Given the description of an element on the screen output the (x, y) to click on. 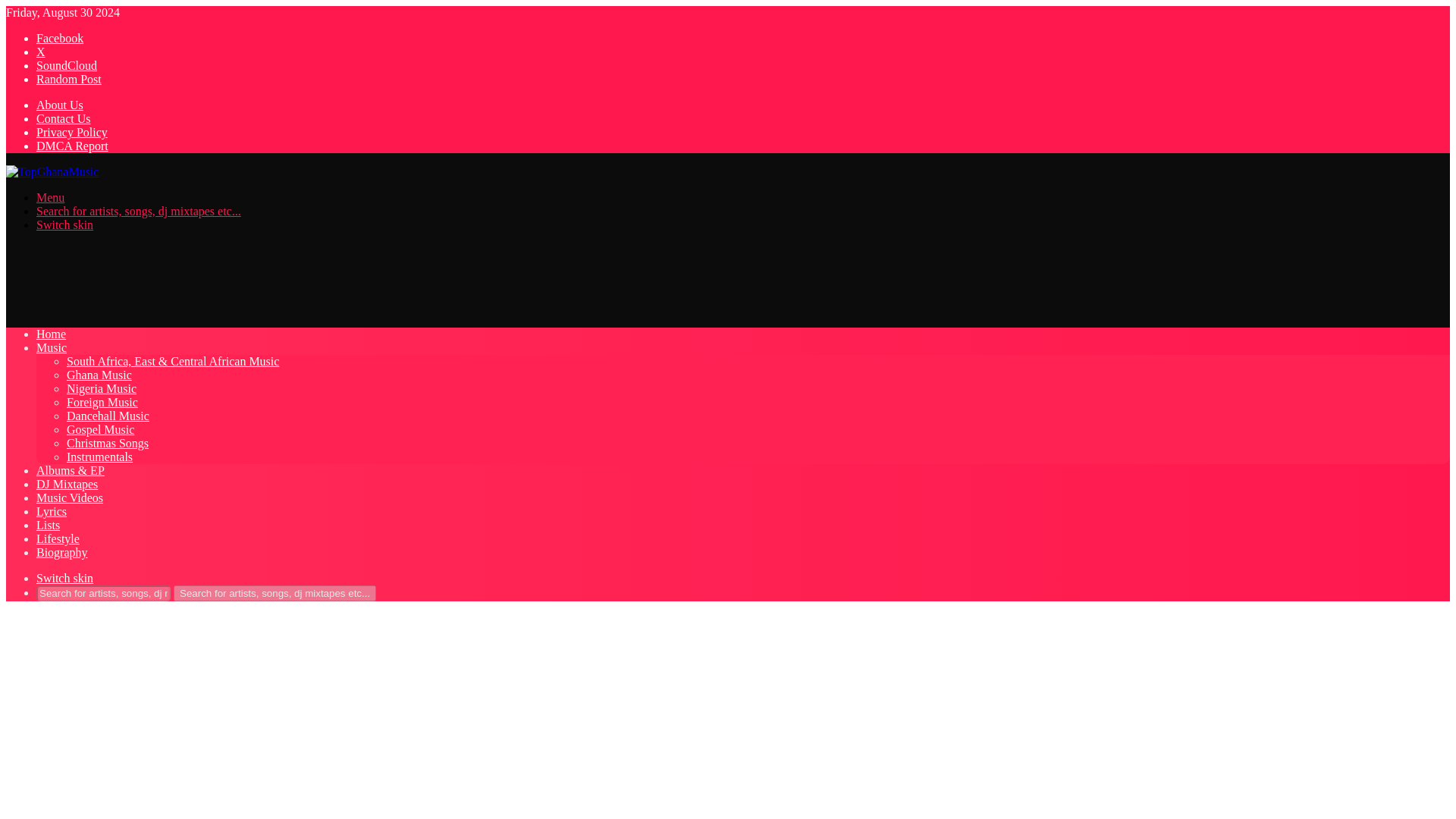
Lifestyle (58, 538)
Facebook (59, 38)
Christmas Songs (107, 442)
Random Post (68, 78)
About Us (59, 104)
Foreign Music (102, 401)
Ghana Music (99, 374)
DJ Mixtapes (66, 483)
SoundCloud (66, 65)
Random Post (68, 78)
